Given the description of an element on the screen output the (x, y) to click on. 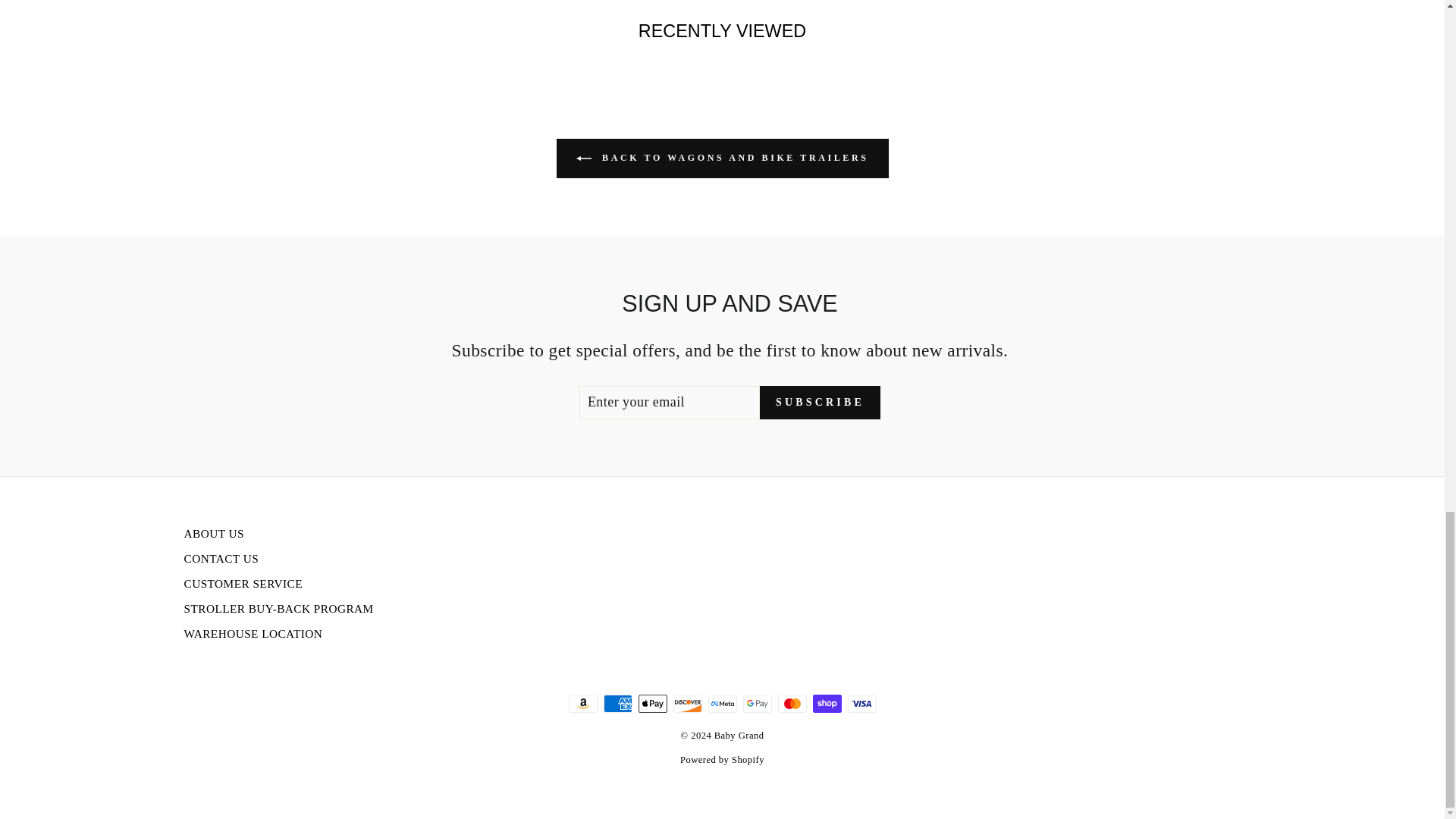
Amazon (582, 703)
Discover (686, 703)
Meta Pay (721, 703)
American Express (617, 703)
Apple Pay (652, 703)
ICON-LEFT-ARROW (583, 158)
